Given the description of an element on the screen output the (x, y) to click on. 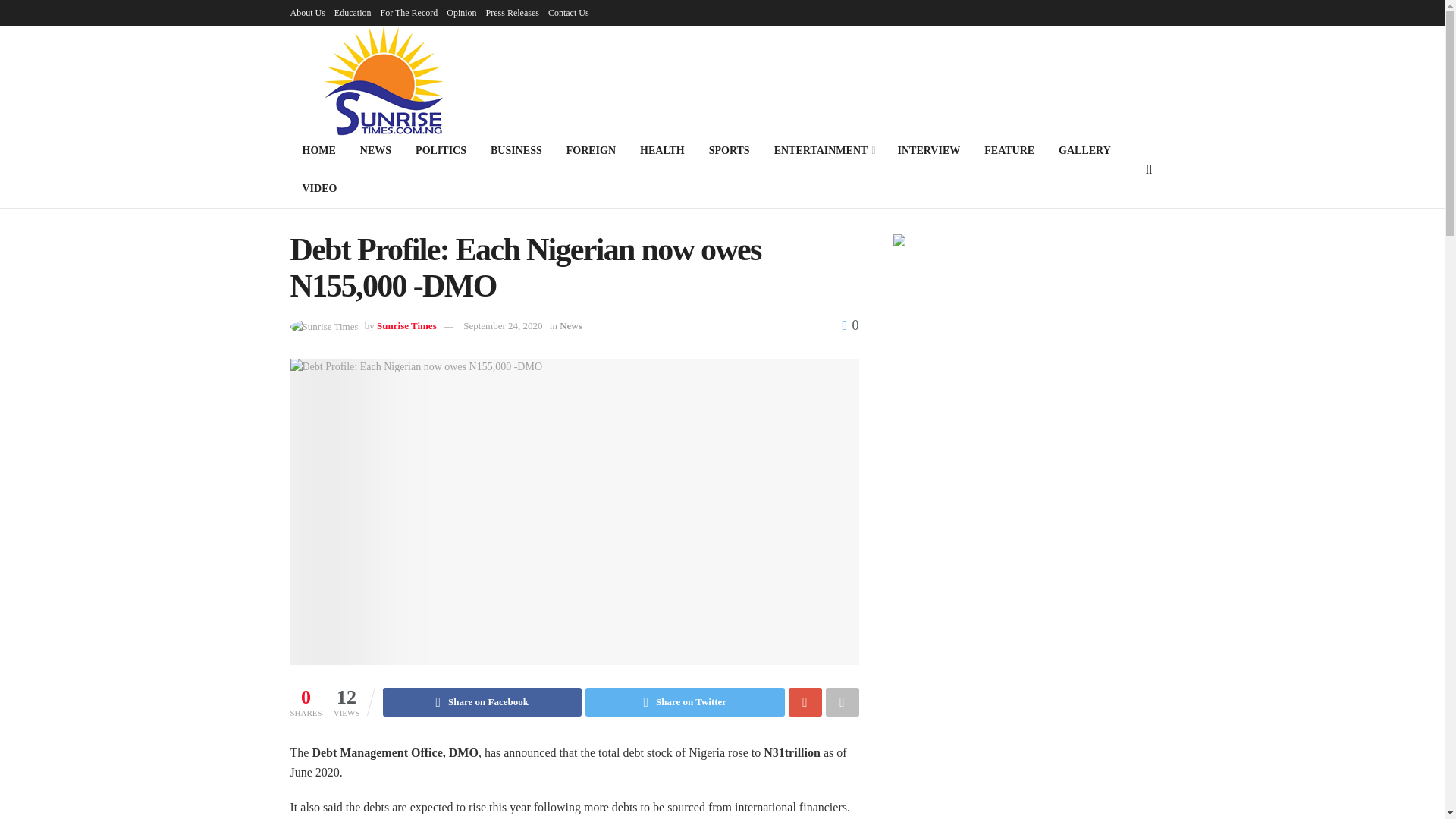
About Us (306, 12)
Opinion (461, 12)
FEATURE (1009, 150)
SPORTS (729, 150)
GALLERY (1084, 150)
ENTERTAINMENT (823, 150)
Press Releases (512, 12)
FOREIGN (590, 150)
HEALTH (662, 150)
For The Record (409, 12)
